Given the description of an element on the screen output the (x, y) to click on. 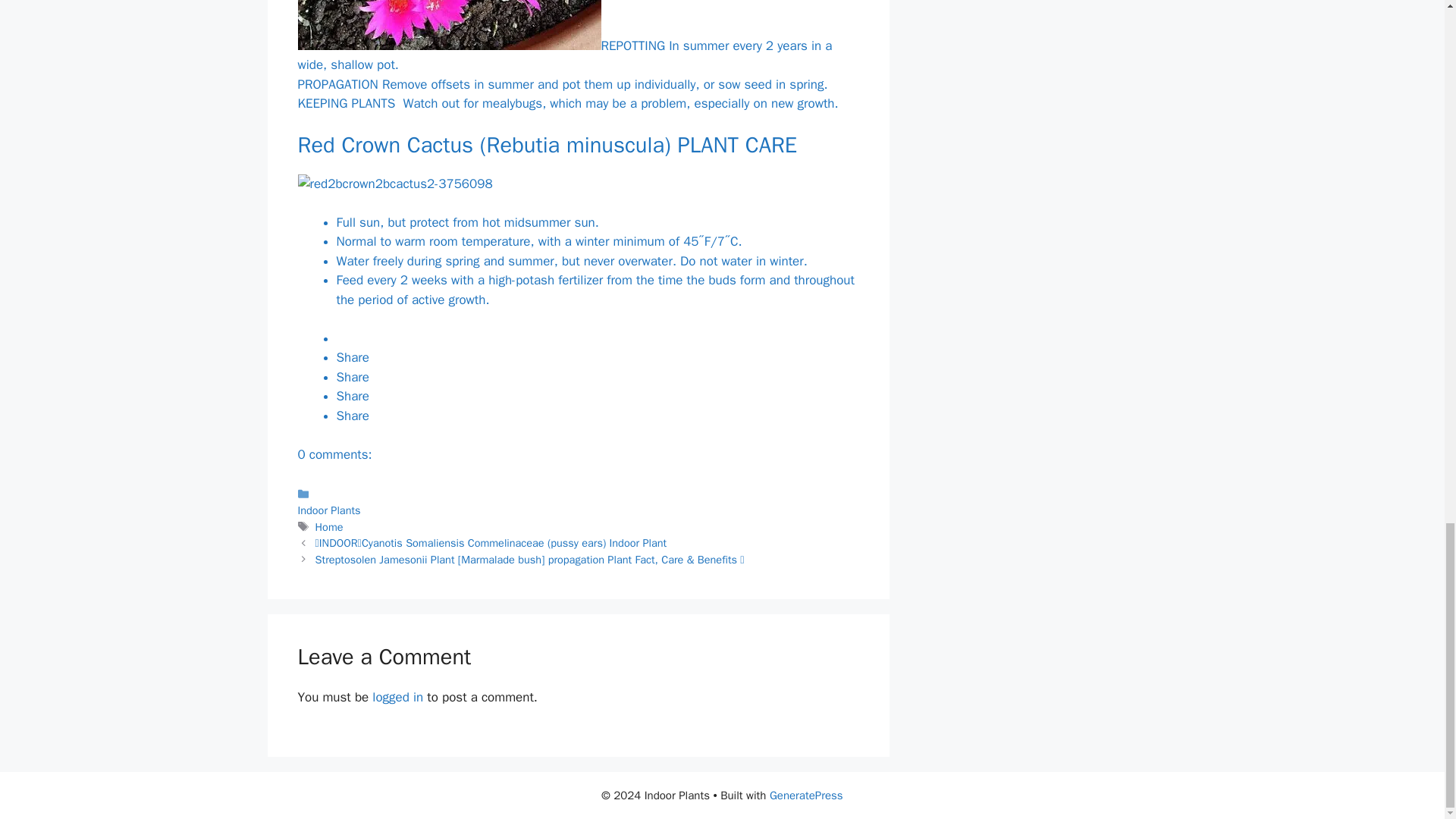
GeneratePress (806, 795)
Categories (578, 501)
Home (329, 526)
0 comments: (334, 454)
Indoor Plants (328, 509)
logged in (397, 697)
